Given the description of an element on the screen output the (x, y) to click on. 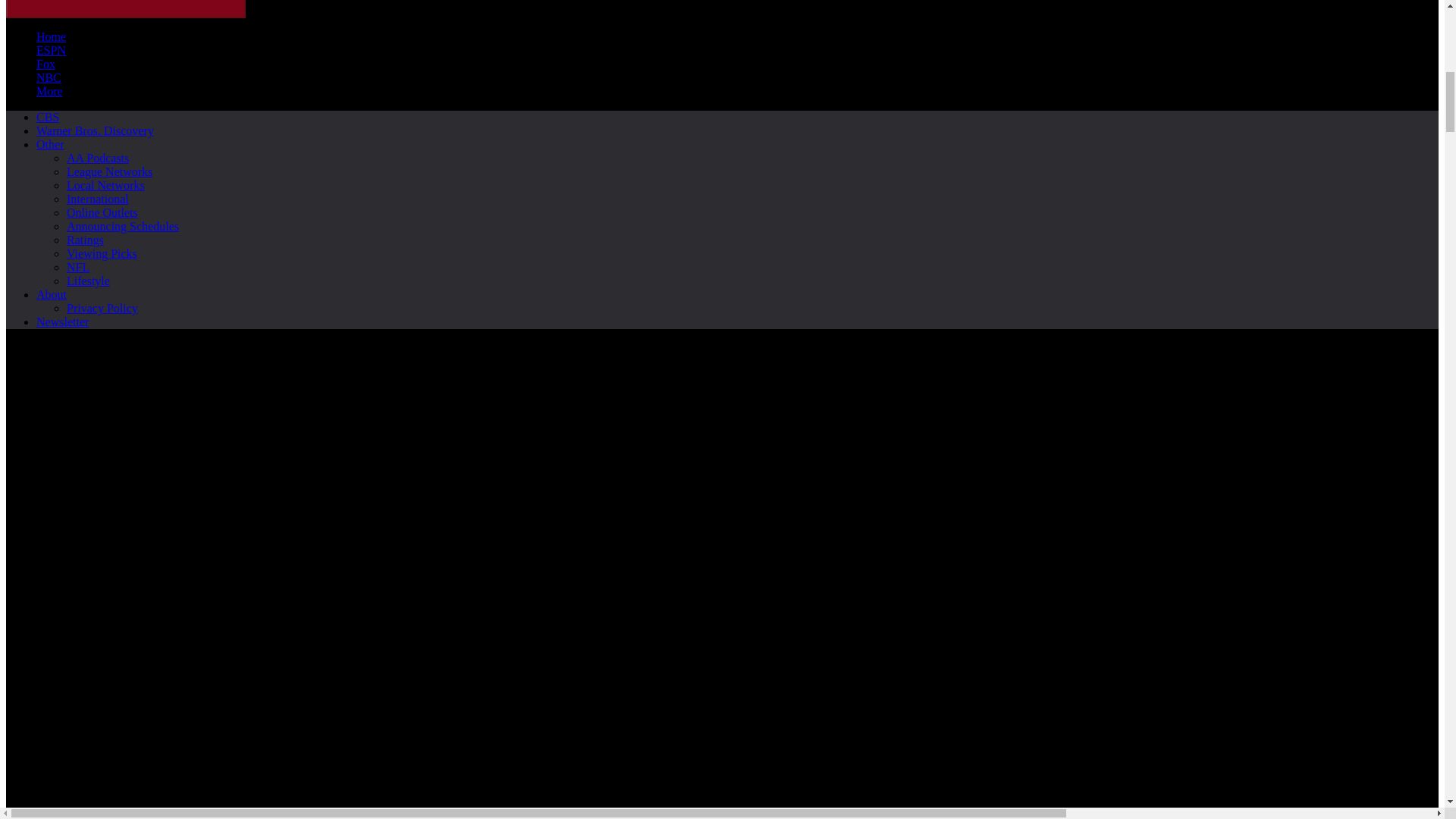
AA Podcasts (97, 157)
ESPN (50, 50)
More (49, 91)
Warner Bros. Discovery (95, 130)
Ratings (84, 239)
CBS (125, 9)
Viewing Picks (47, 116)
Link to Instagram (101, 253)
Link to Facebook (149, 631)
